Given the description of an element on the screen output the (x, y) to click on. 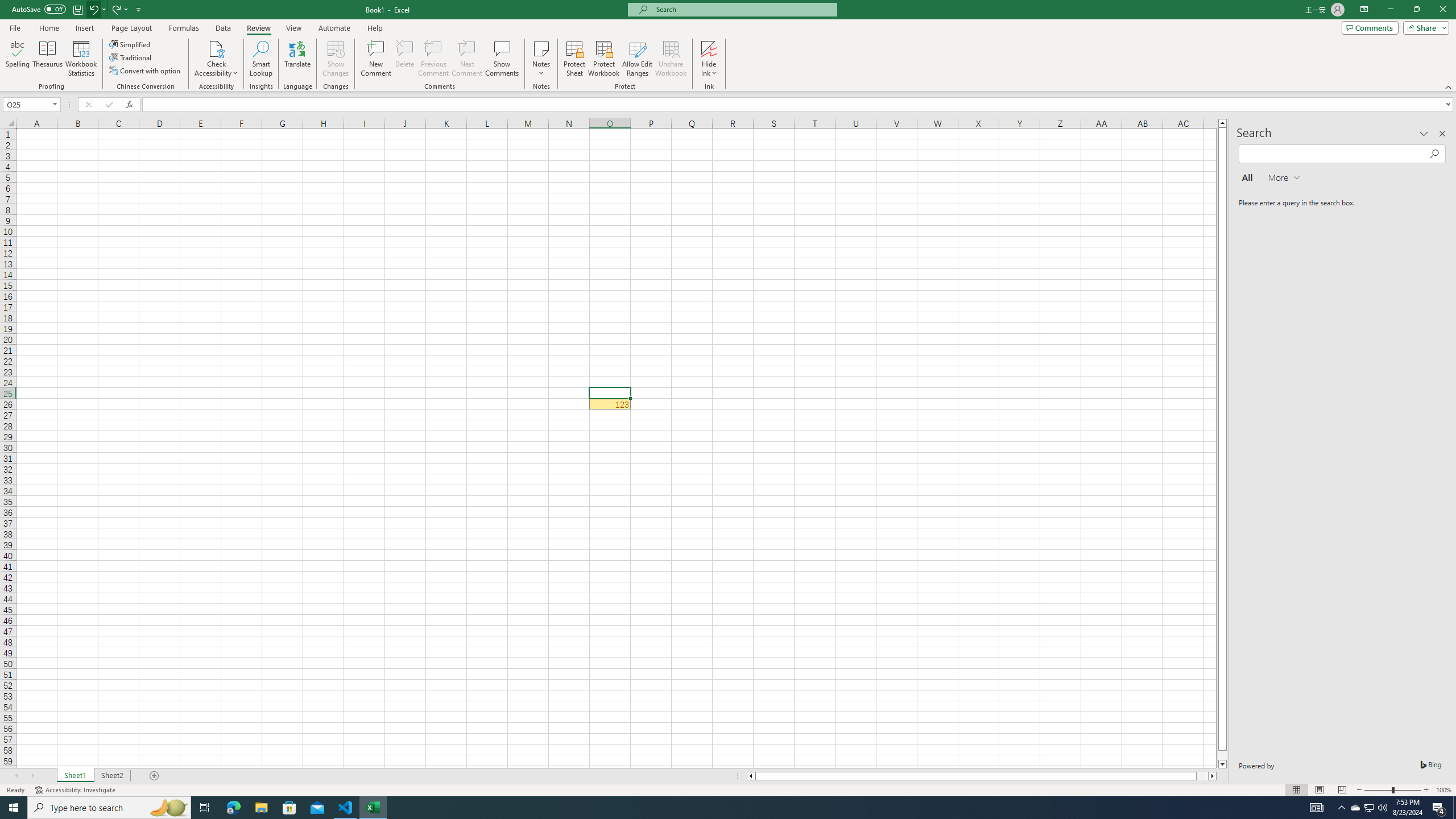
Next Comment (466, 58)
Spelling... (17, 58)
